Given the description of an element on the screen output the (x, y) to click on. 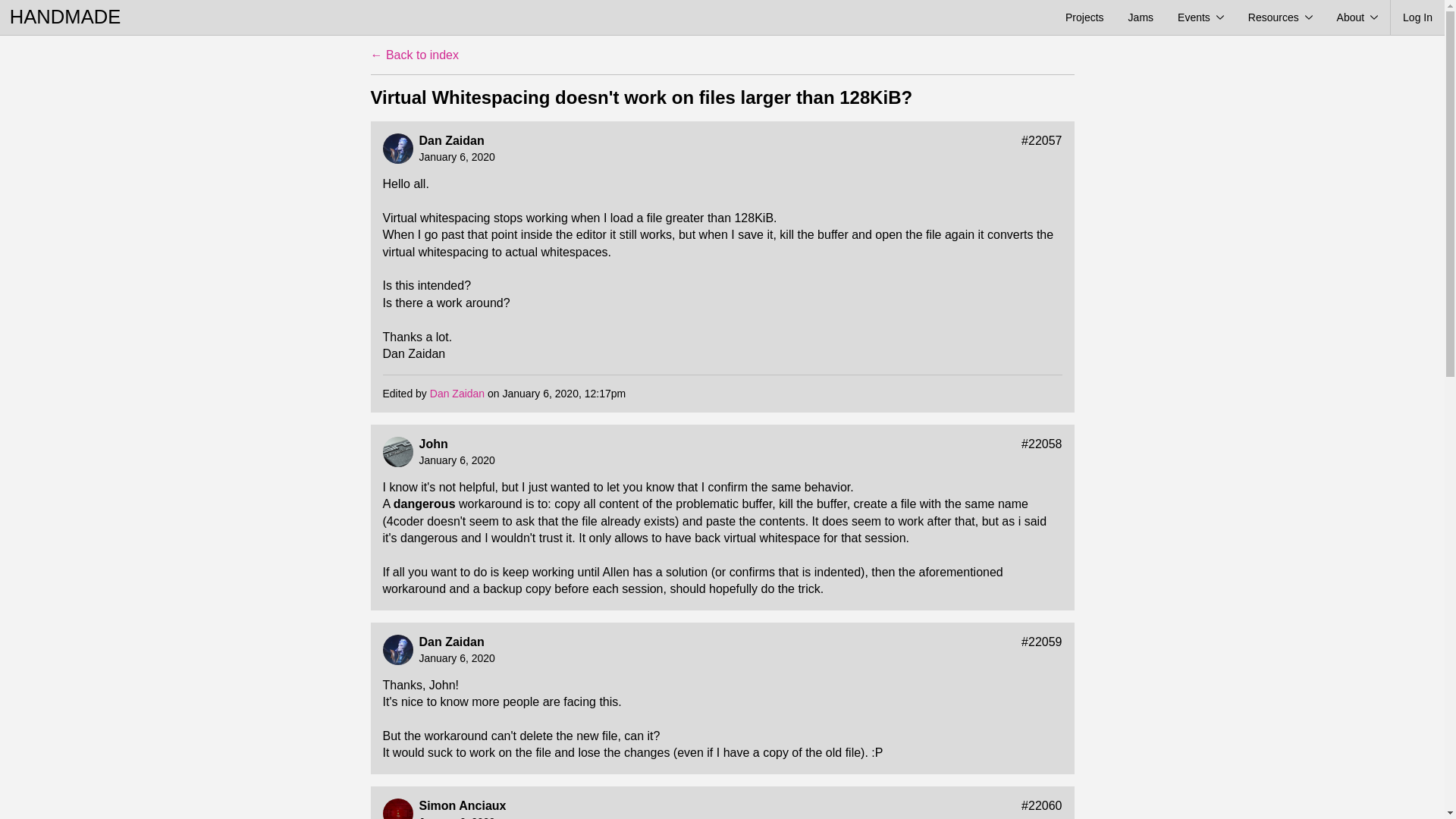
Dan Zaidan (456, 393)
HANDMADE (65, 17)
Resources (1280, 17)
Projects (1084, 17)
Events (1201, 17)
John (432, 443)
About (1357, 17)
Dan Zaidan (451, 641)
Jams (1141, 17)
Dan Zaidan (451, 140)
